Given the description of an element on the screen output the (x, y) to click on. 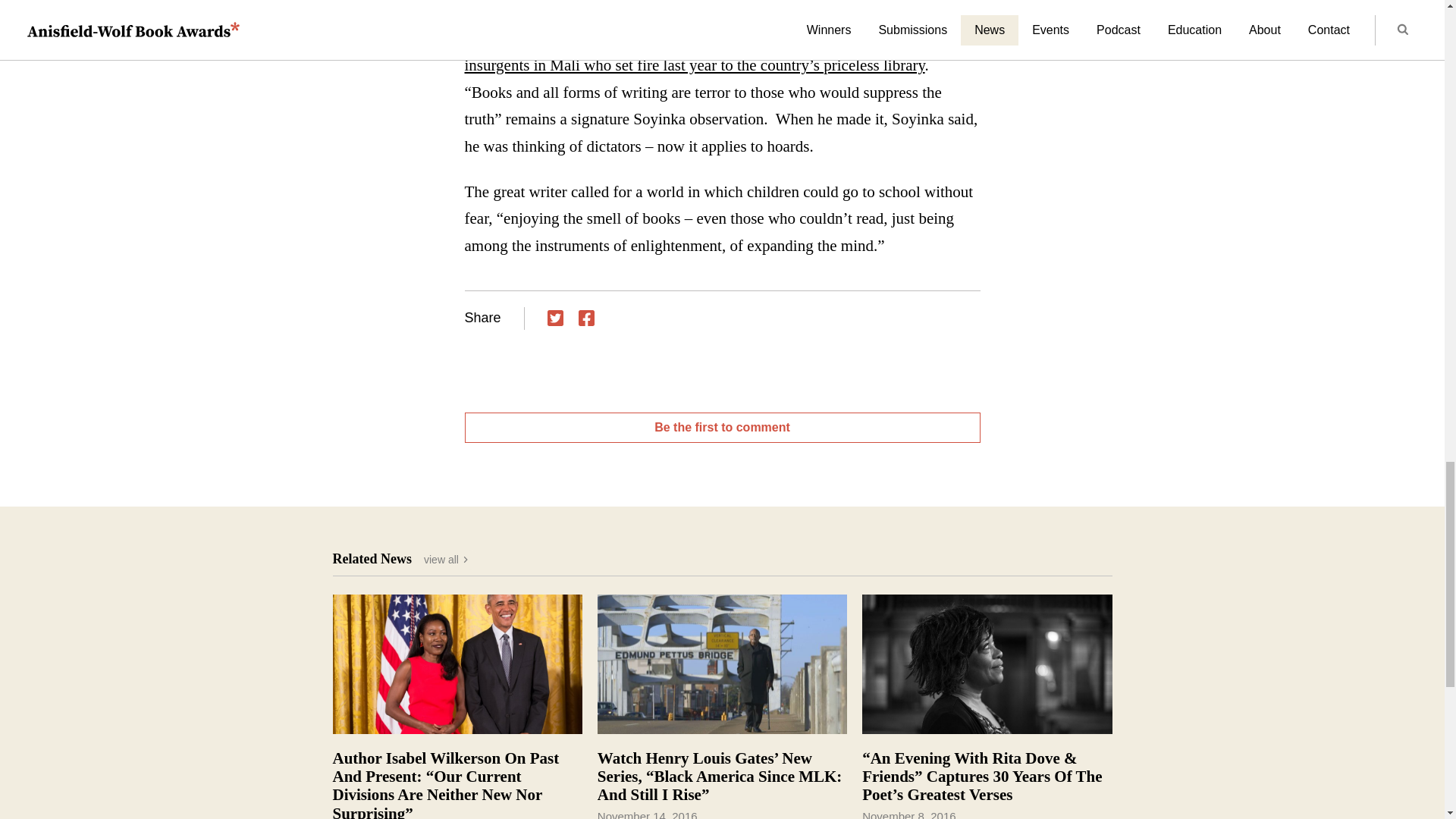
Twitter (555, 317)
view all (446, 559)
Facebook (586, 317)
Be the first to comment (721, 427)
